Given the description of an element on the screen output the (x, y) to click on. 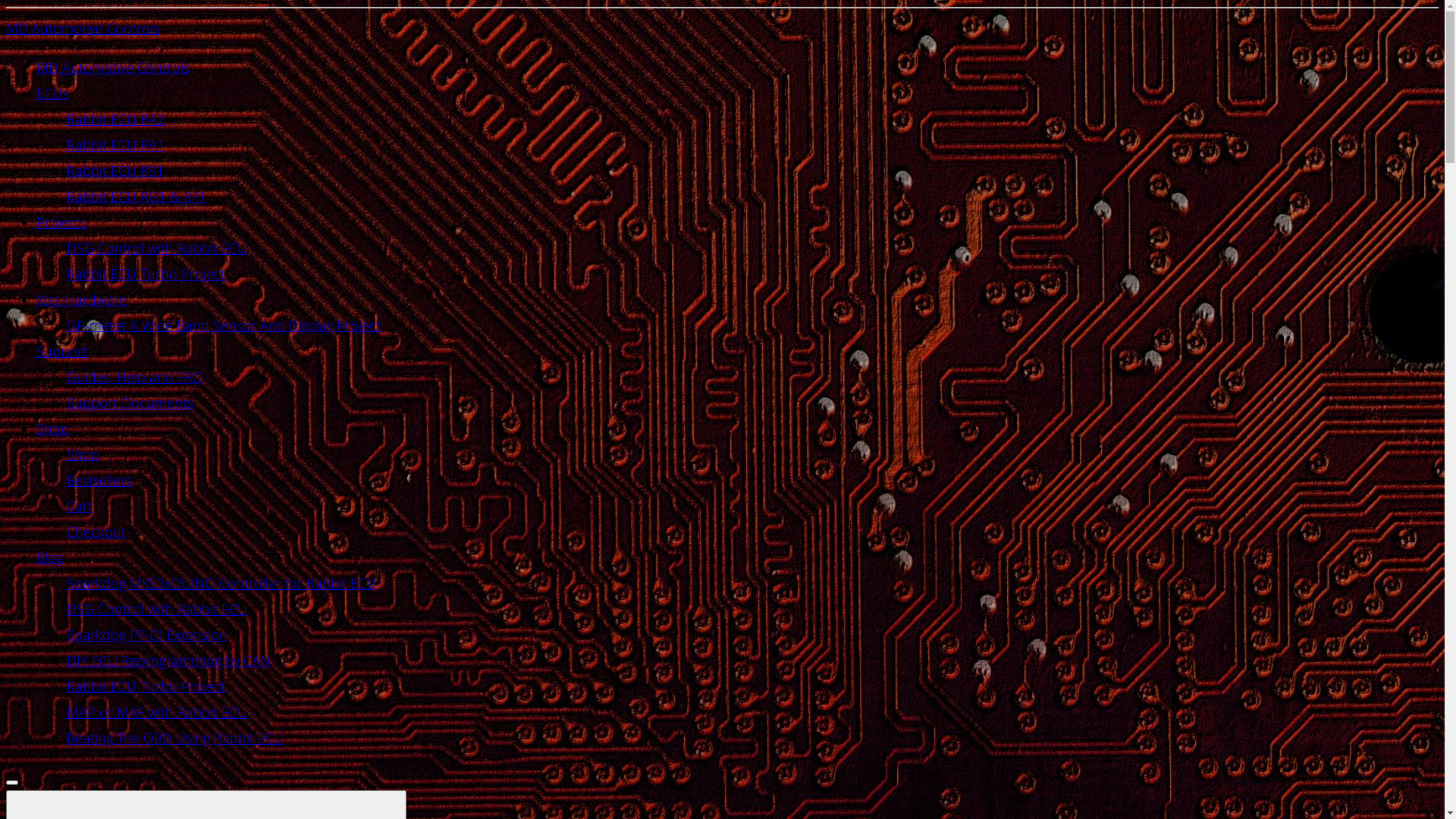
Skip to content Element type: text (5, 6)
MAP or MAF with Rabbit ECU Element type: text (156, 711)
Support Documents Element type: text (129, 402)
Guides, Help and FAQ Element type: text (134, 376)
MD Automotive Controls Element type: text (82, 27)
MD Automotive Controls Element type: text (112, 67)
Sparkdog PF-DI Extension Element type: text (146, 634)
Cart Element type: text (79, 505)
Xtra Hardware Element type: text (81, 299)
GP-meter 6 Wide Band Sensor And Display Project Element type: text (223, 325)
DSG Control with Rabbit ECU Element type: text (156, 247)
Support Element type: text (61, 351)
Projects Element type: text (61, 222)
DIY ECU Reprogramming by CAN Element type: text (167, 660)
Rabbit ECU RG1 & RF1 Element type: text (136, 196)
Shop Element type: text (52, 428)
Sparkdog MKS2xDUINO Controller for Rabbit ECU Element type: text (221, 583)
Bestsellers Element type: text (98, 479)
Checkout Element type: text (95, 531)
Shop Element type: text (82, 454)
Rabbit ECU RA1 Element type: text (115, 144)
ECUs Element type: text (52, 93)
Beating The OBD Using Rabbit ECU Element type: text (174, 737)
DSG Control with Rabbit ECU Element type: text (156, 608)
Rabbit ECU RS1 Element type: text (114, 170)
Rabbit ECU Turbo Project Element type: text (145, 273)
Blog Element type: text (49, 557)
Rabbit ECU RA2 Element type: text (115, 118)
Rabbit ECU Turbo Project Element type: text (145, 686)
